Given the description of an element on the screen output the (x, y) to click on. 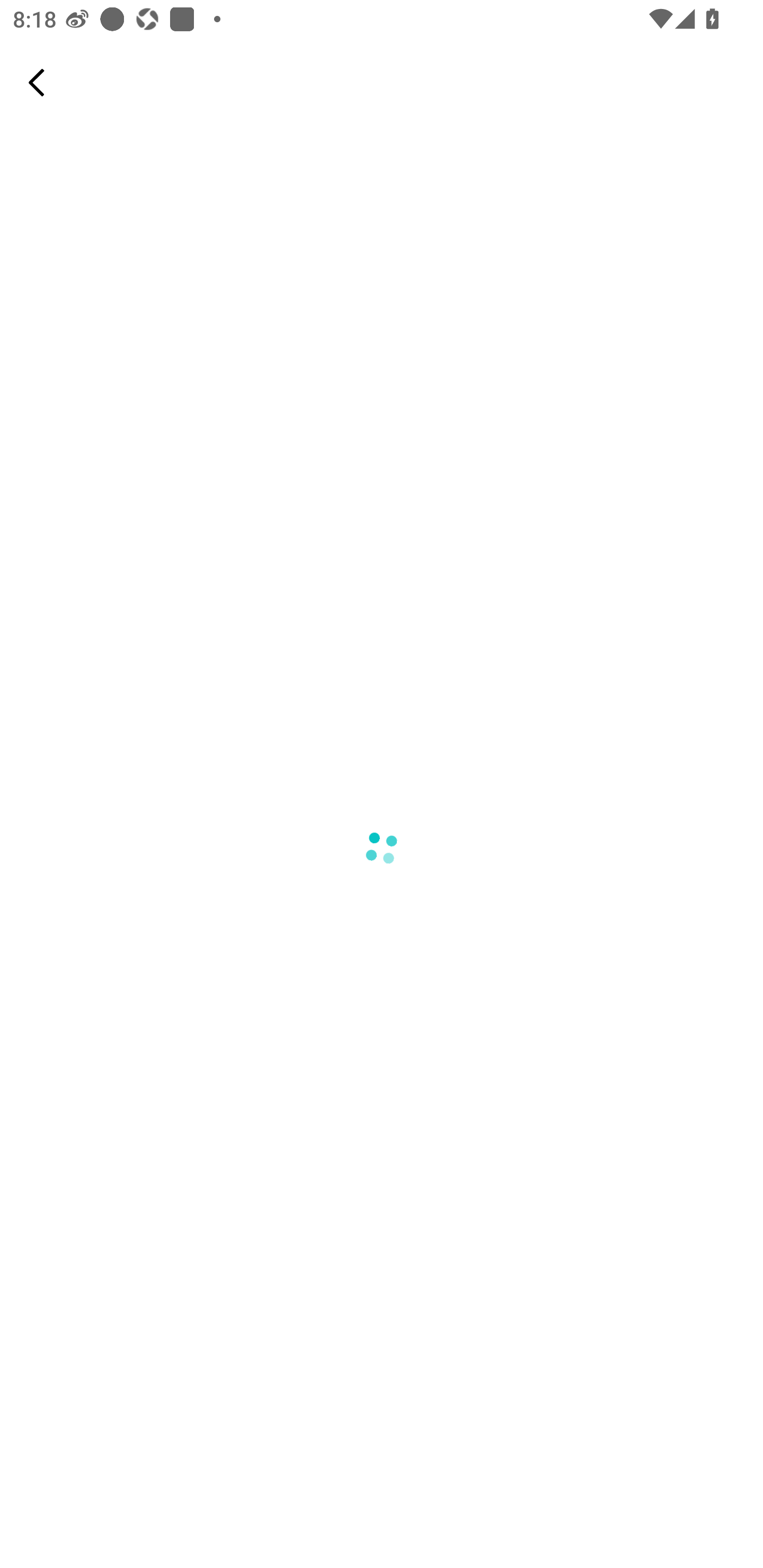
Navigate up (36, 82)
